Given the description of an element on the screen output the (x, y) to click on. 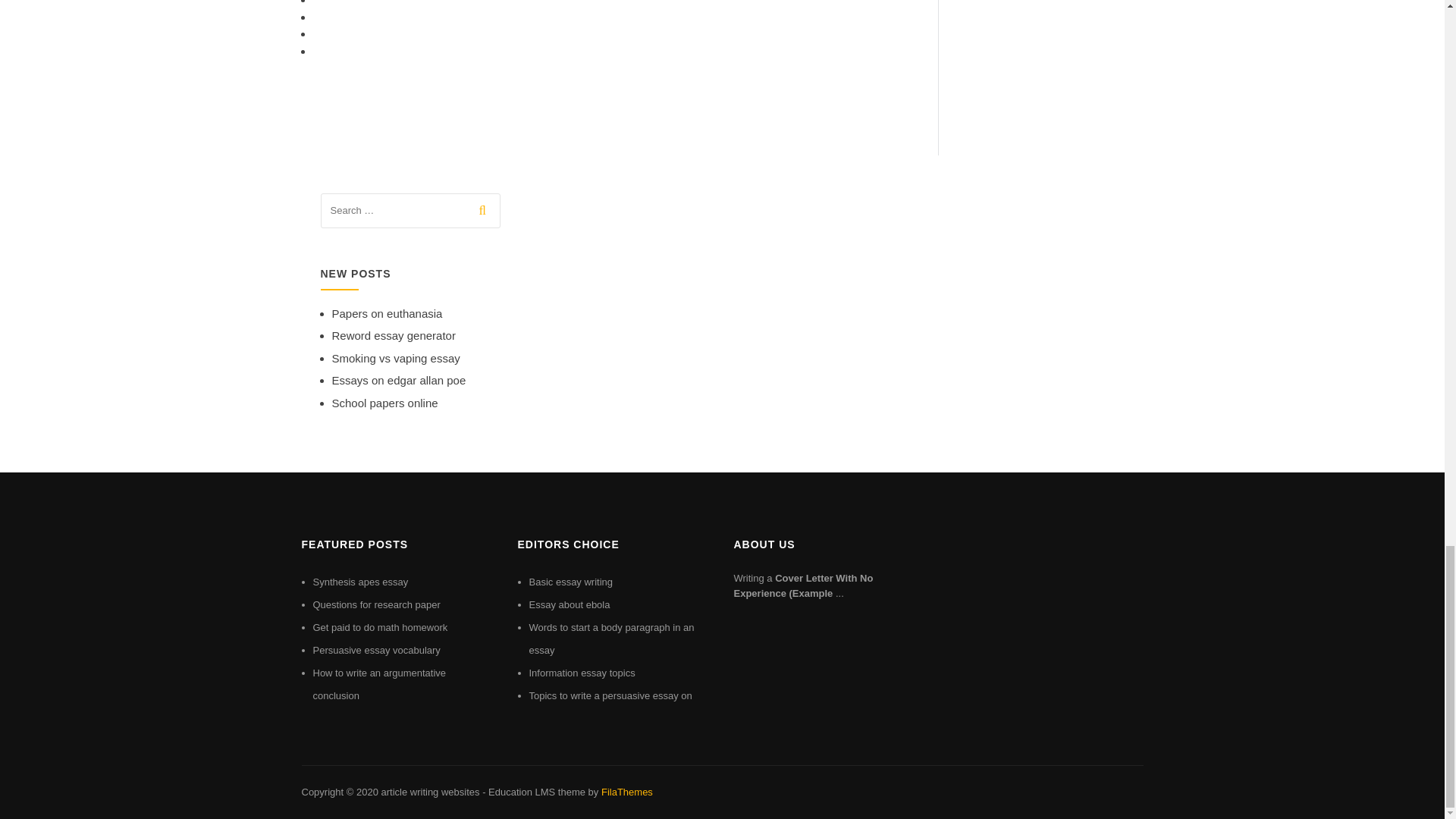
Words to start a body paragraph in an essay (611, 638)
Reword essay generator (393, 335)
Topics to write a persuasive essay on (611, 695)
Essays on edgar allan poe (398, 379)
Persuasive essay vocabulary (376, 650)
Questions for research paper (376, 604)
article writing websites (429, 791)
Papers on euthanasia (386, 313)
How to write an argumentative conclusion (379, 684)
School papers online (384, 402)
